Given the description of an element on the screen output the (x, y) to click on. 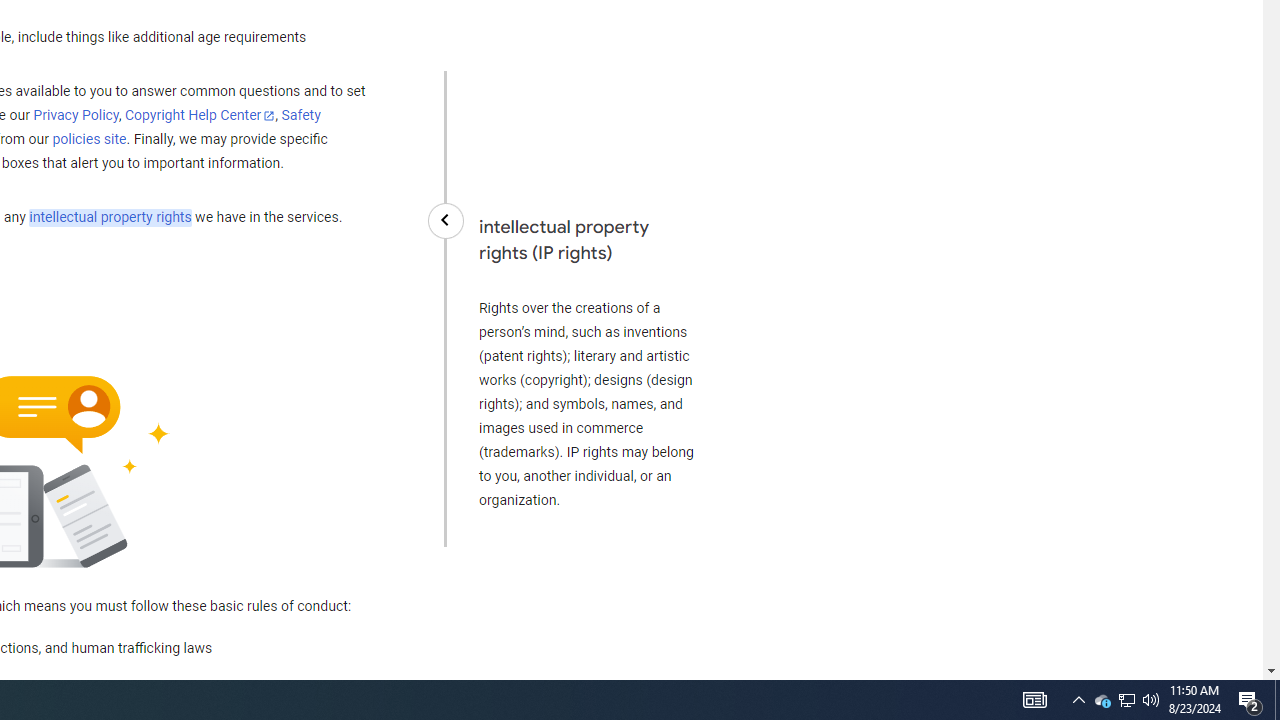
policies site (89, 140)
Privacy Policy (76, 116)
intellectual property rights (110, 218)
Copyright Help Center (200, 116)
